Given the description of an element on the screen output the (x, y) to click on. 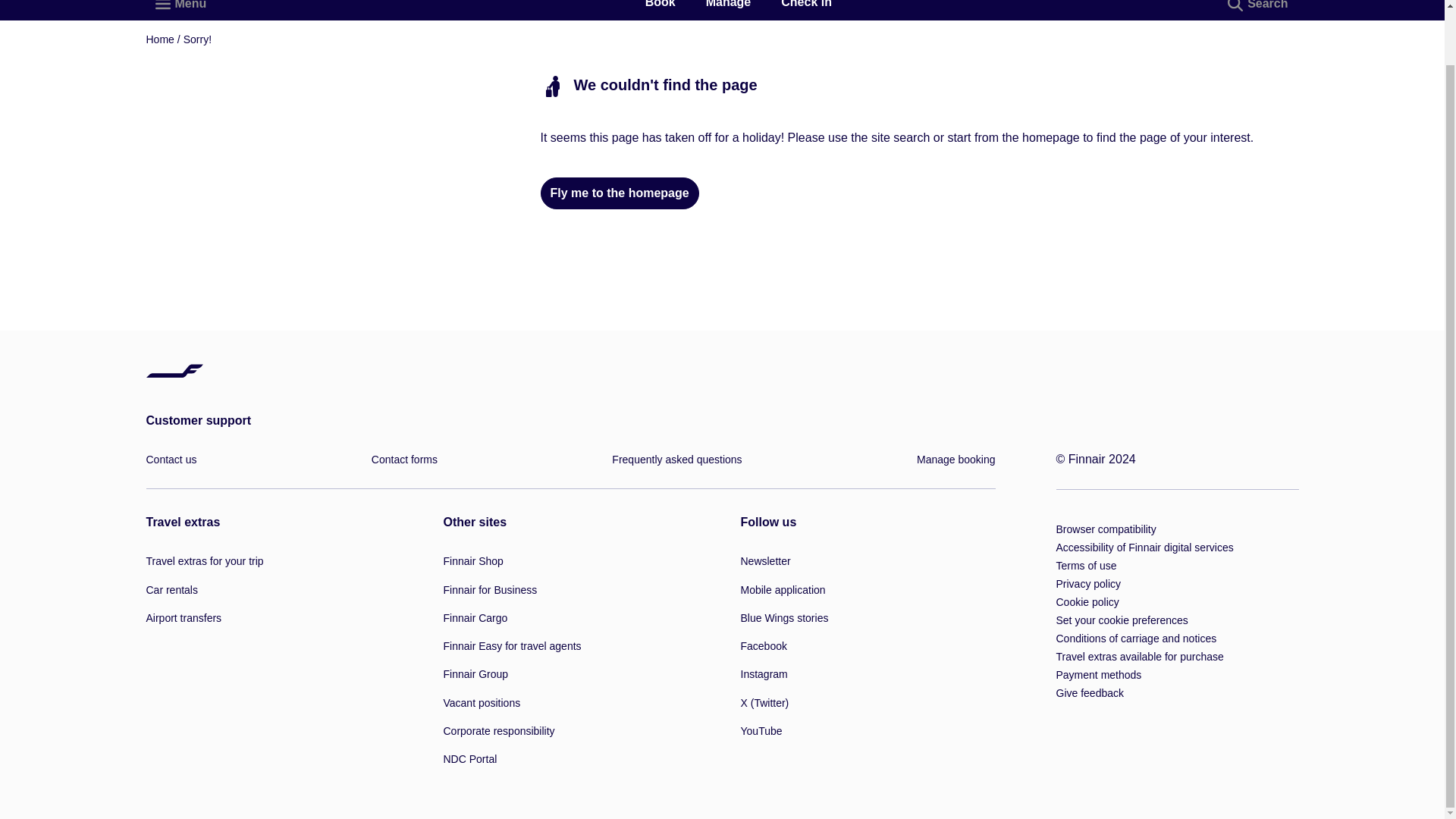
Menu (180, 6)
Book (660, 5)
Manage (728, 5)
Search (1258, 6)
Check in (805, 5)
